Given the description of an element on the screen output the (x, y) to click on. 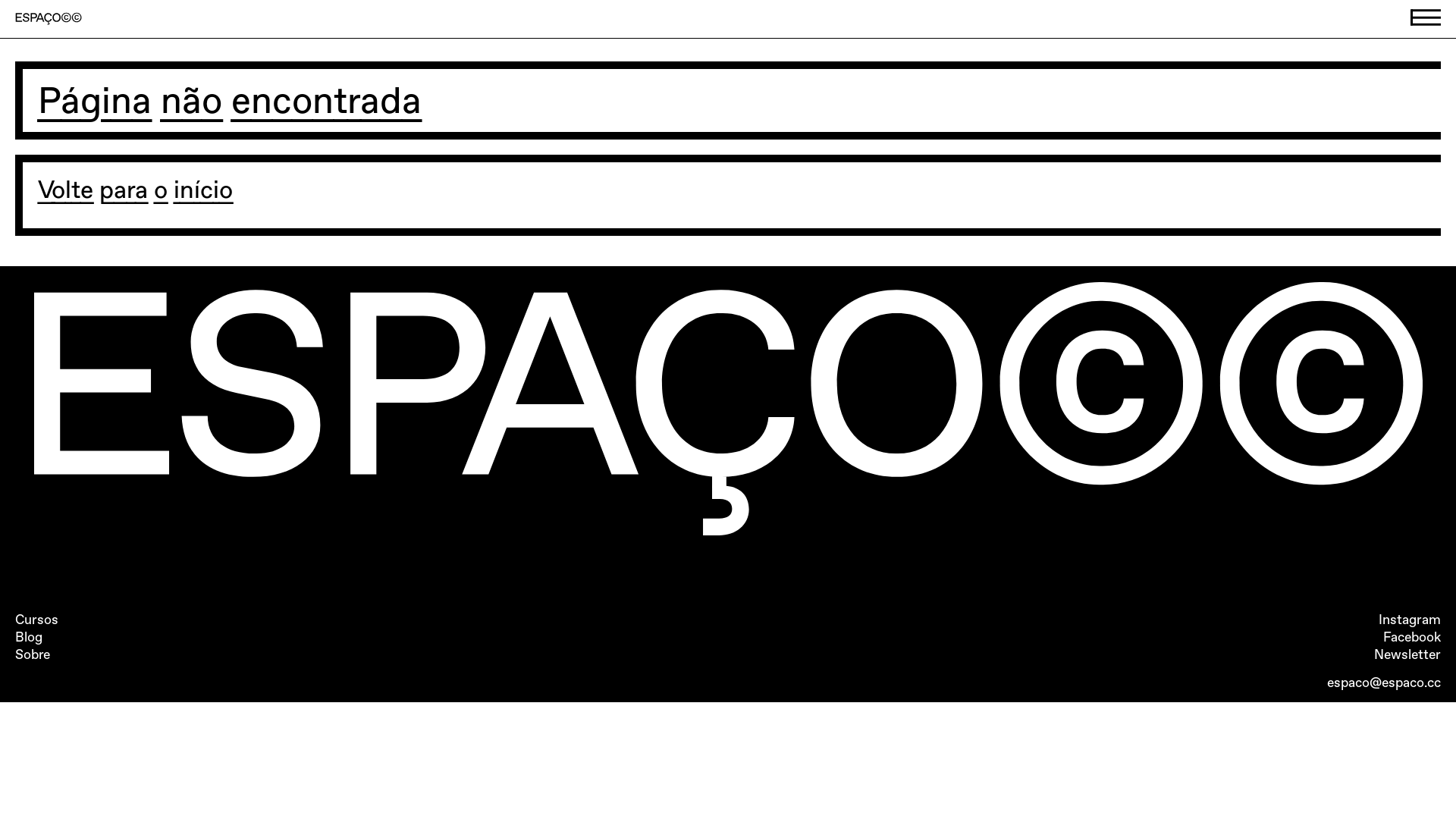
Instagram Element type: text (1409, 619)
Newsletter Element type: text (1407, 654)
Cursos Element type: text (36, 619)
Sobre Element type: text (32, 654)
Blog Element type: text (28, 636)
Facebook Element type: text (1411, 636)
